Given the description of an element on the screen output the (x, y) to click on. 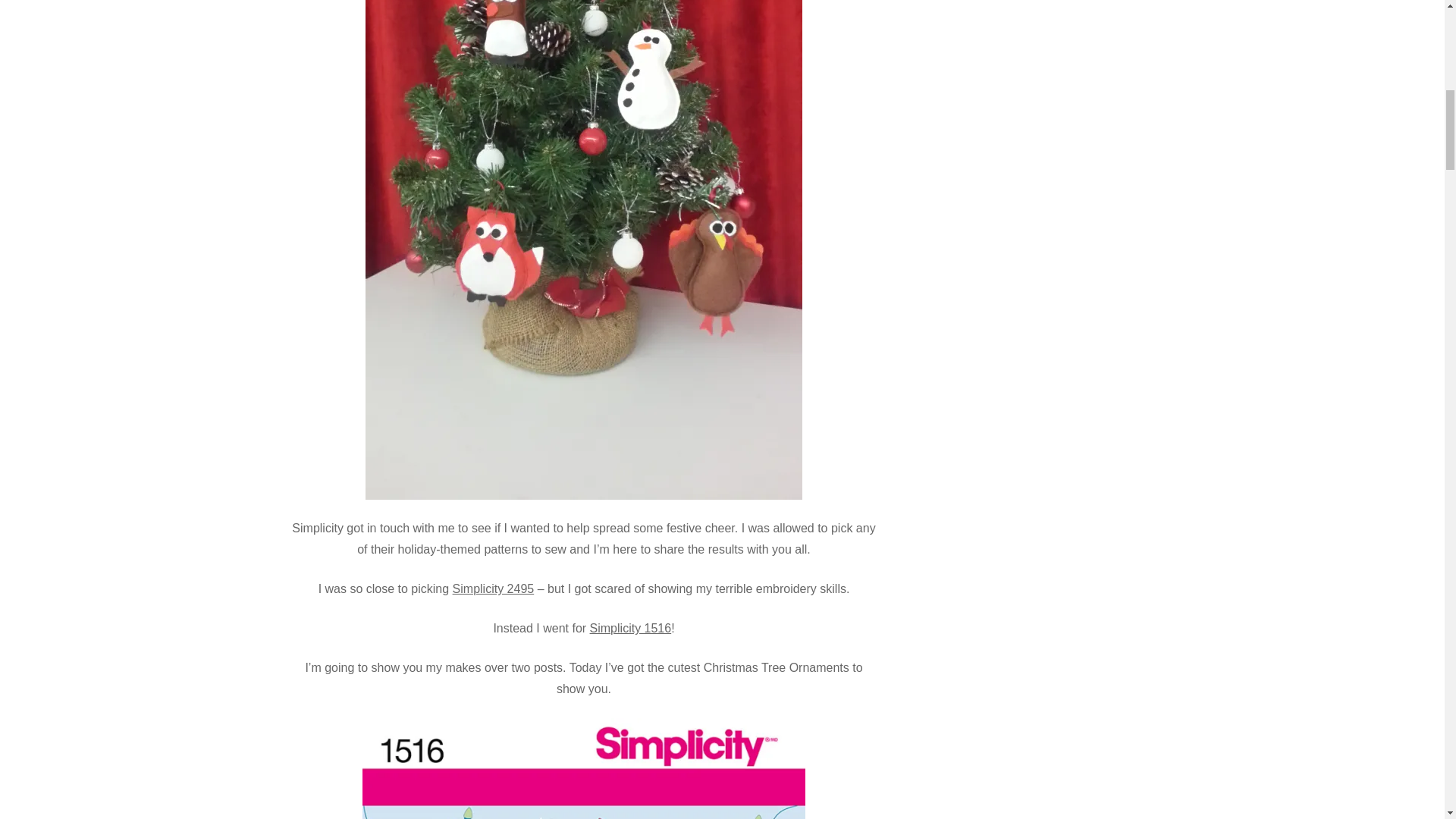
Simplicity 1516 (630, 627)
Simplicity 2495 (493, 588)
